Given the description of an element on the screen output the (x, y) to click on. 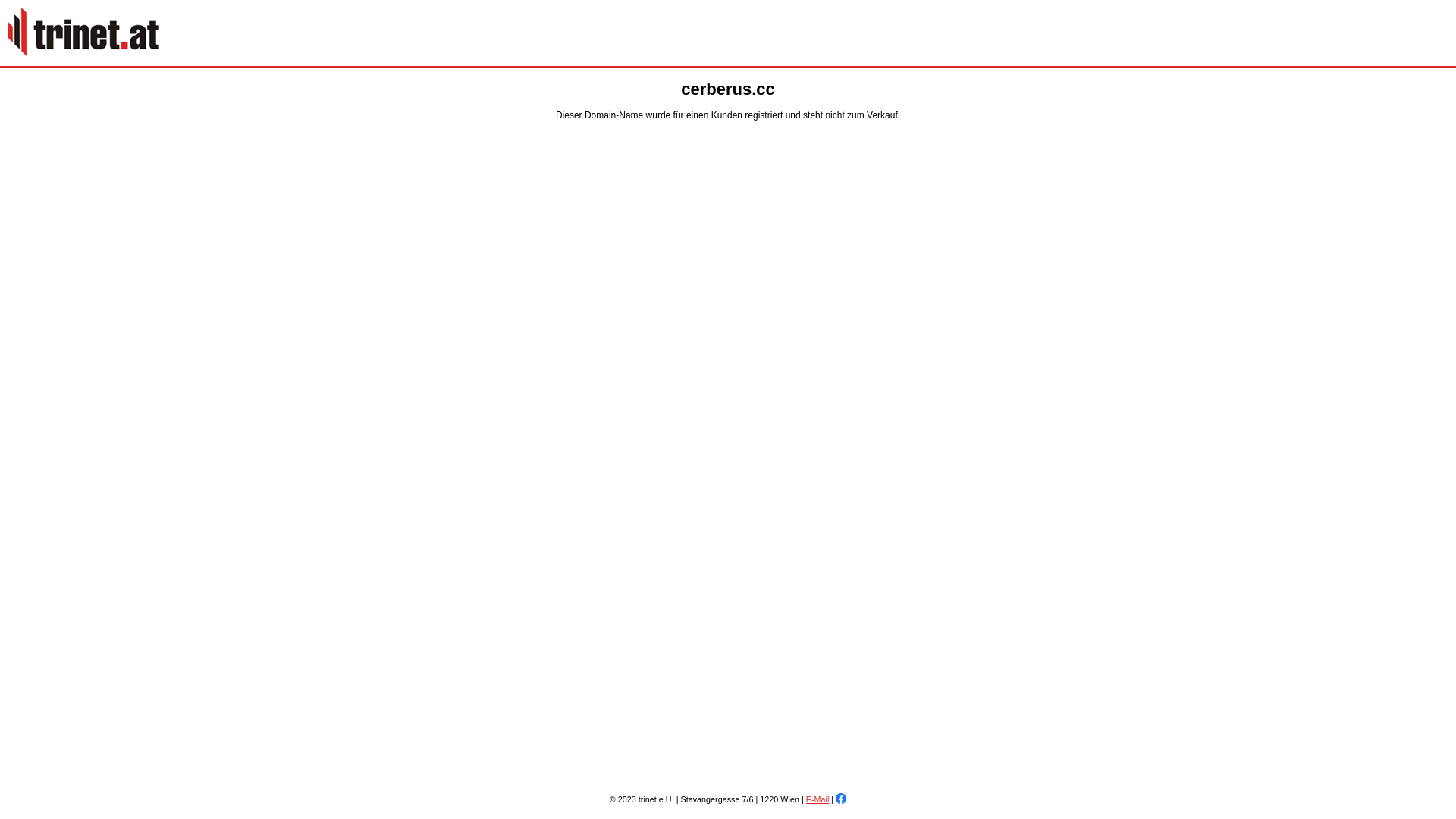
E-Mail Element type: text (817, 798)
